Given the description of an element on the screen output the (x, y) to click on. 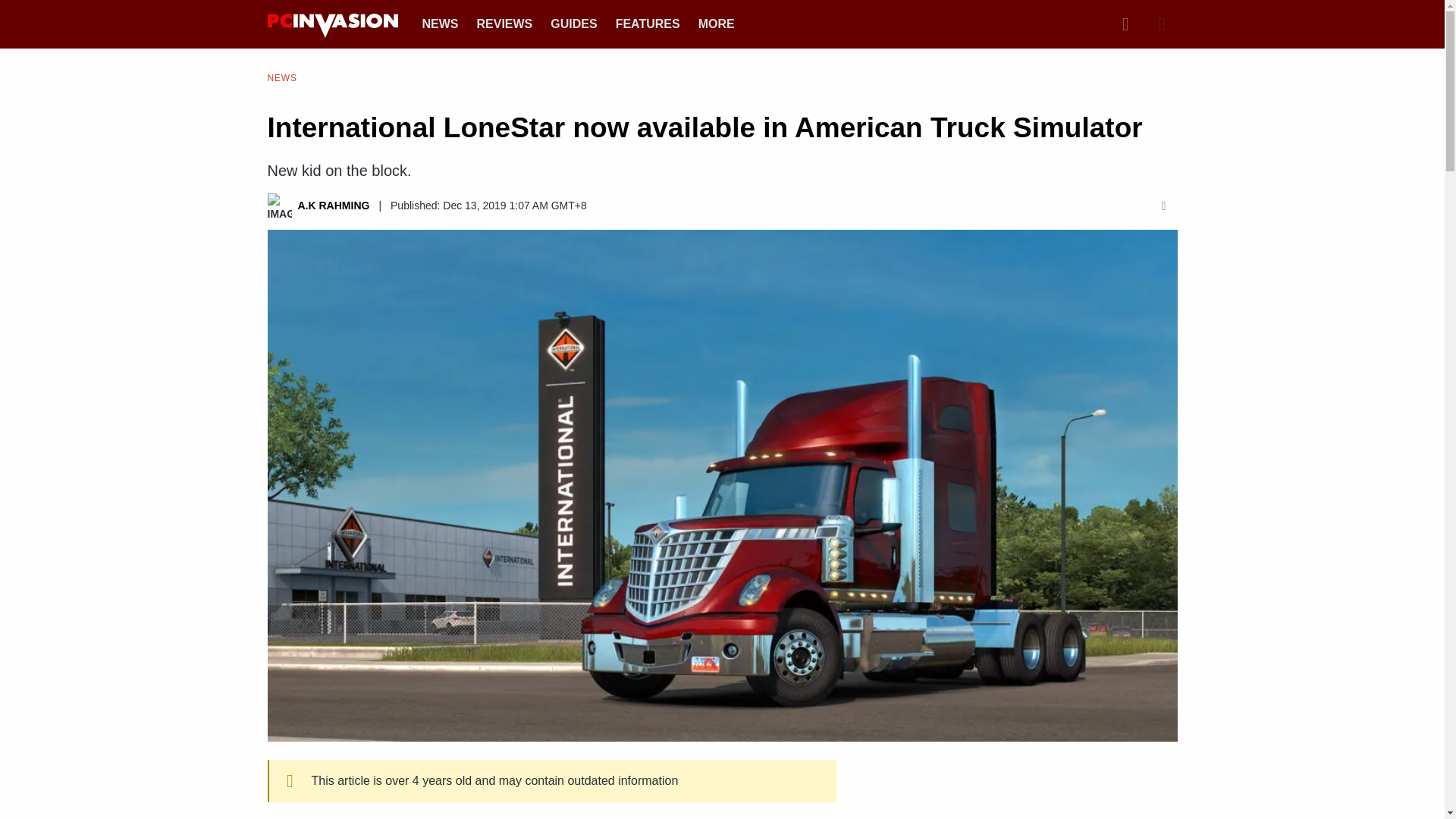
3rd party ad content (721, 785)
3rd party ad content (1024, 789)
GUIDES (573, 23)
NEWS (281, 77)
FEATURES (647, 23)
Search (1124, 24)
NEWS (440, 23)
Dark Mode (1161, 24)
REVIEWS (504, 23)
